Given the description of an element on the screen output the (x, y) to click on. 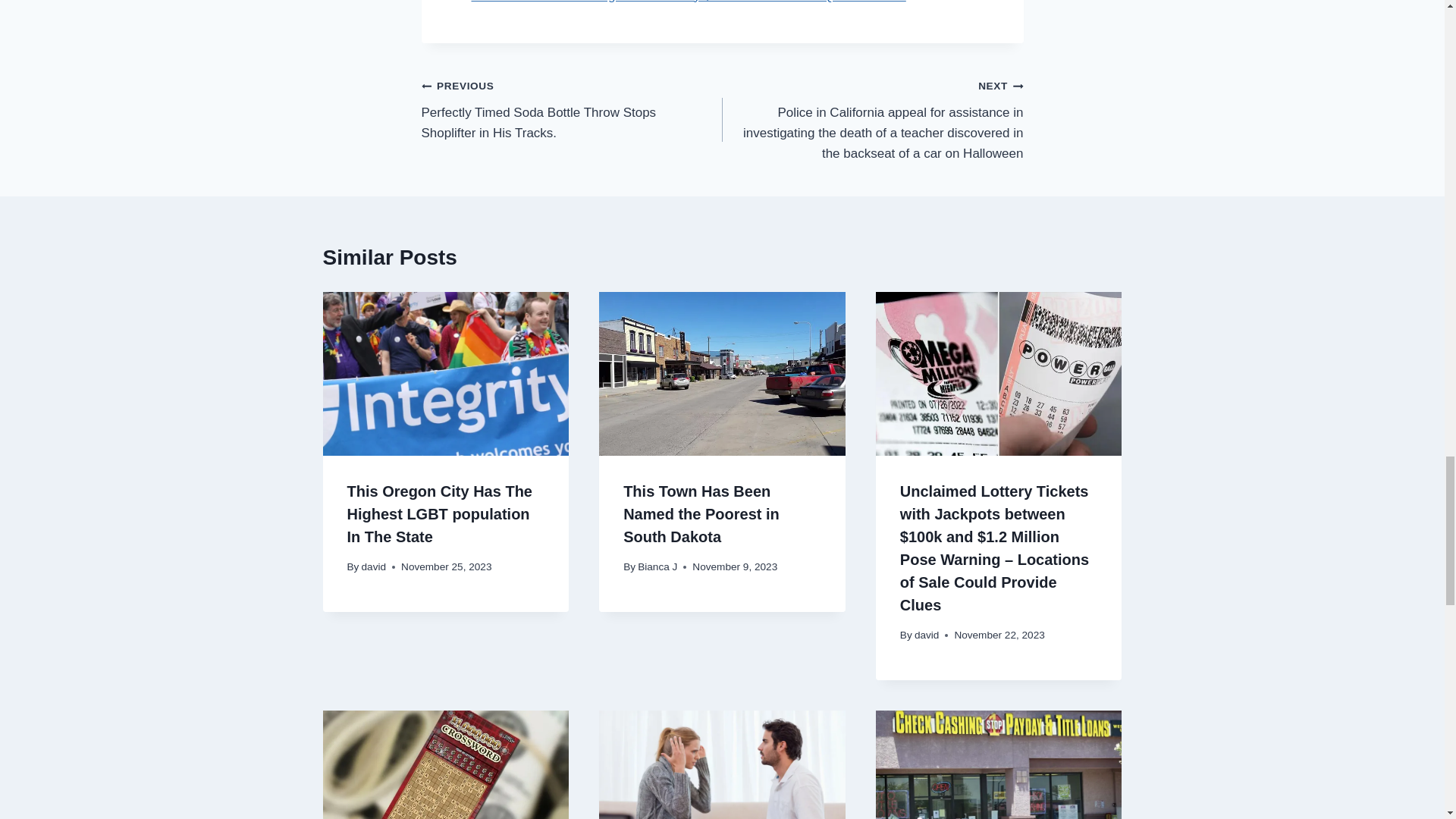
david (374, 566)
Bianca J (657, 566)
This Town Has Been Named the Poorest in South Dakota (700, 514)
david (926, 634)
